Given the description of an element on the screen output the (x, y) to click on. 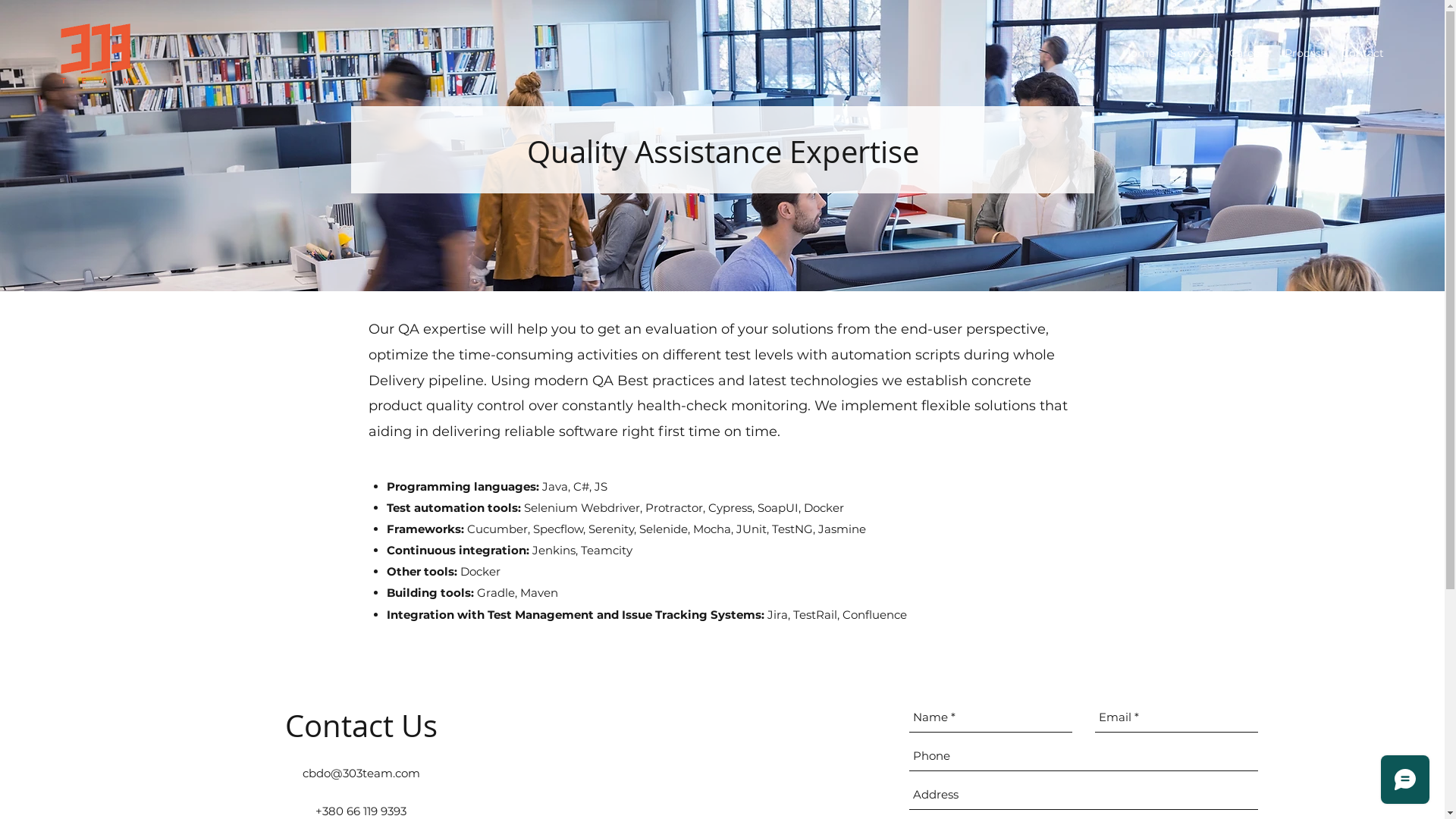
Careers Element type: text (1249, 52)
Home Element type: text (1138, 52)
Contact Element type: text (1362, 52)
Services Element type: text (1191, 52)
Process Element type: text (1305, 52)
cbdo@303team.com Element type: text (361, 772)
